Given the description of an element on the screen output the (x, y) to click on. 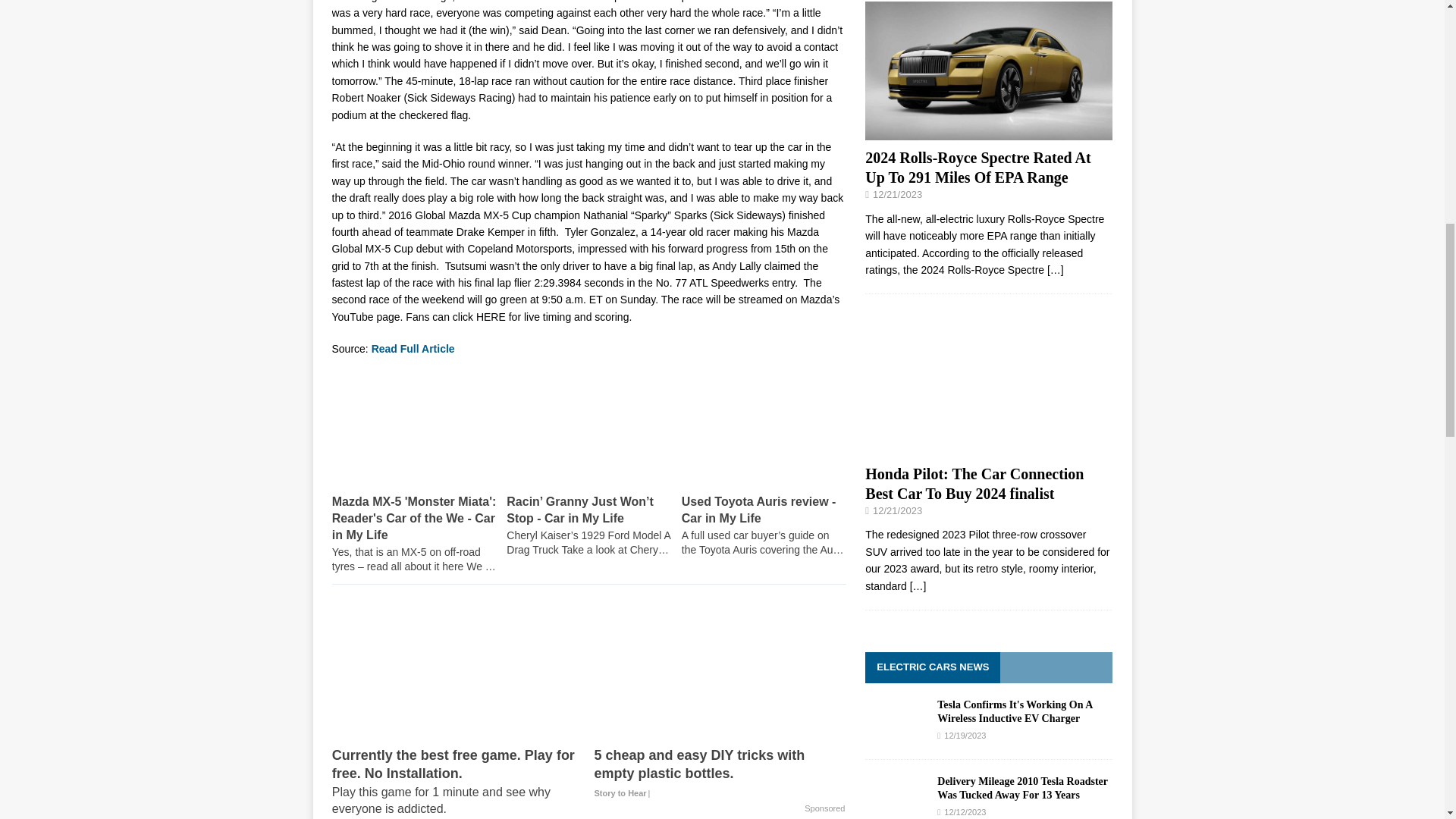
5 cheap and easy DIY tricks with empty plastic bottles. (719, 671)
Read Full Article (412, 348)
Used Toyota Auris review - Car in My Life (763, 525)
Used Toyota Auris review - Car in My Life (763, 443)
